Given the description of an element on the screen output the (x, y) to click on. 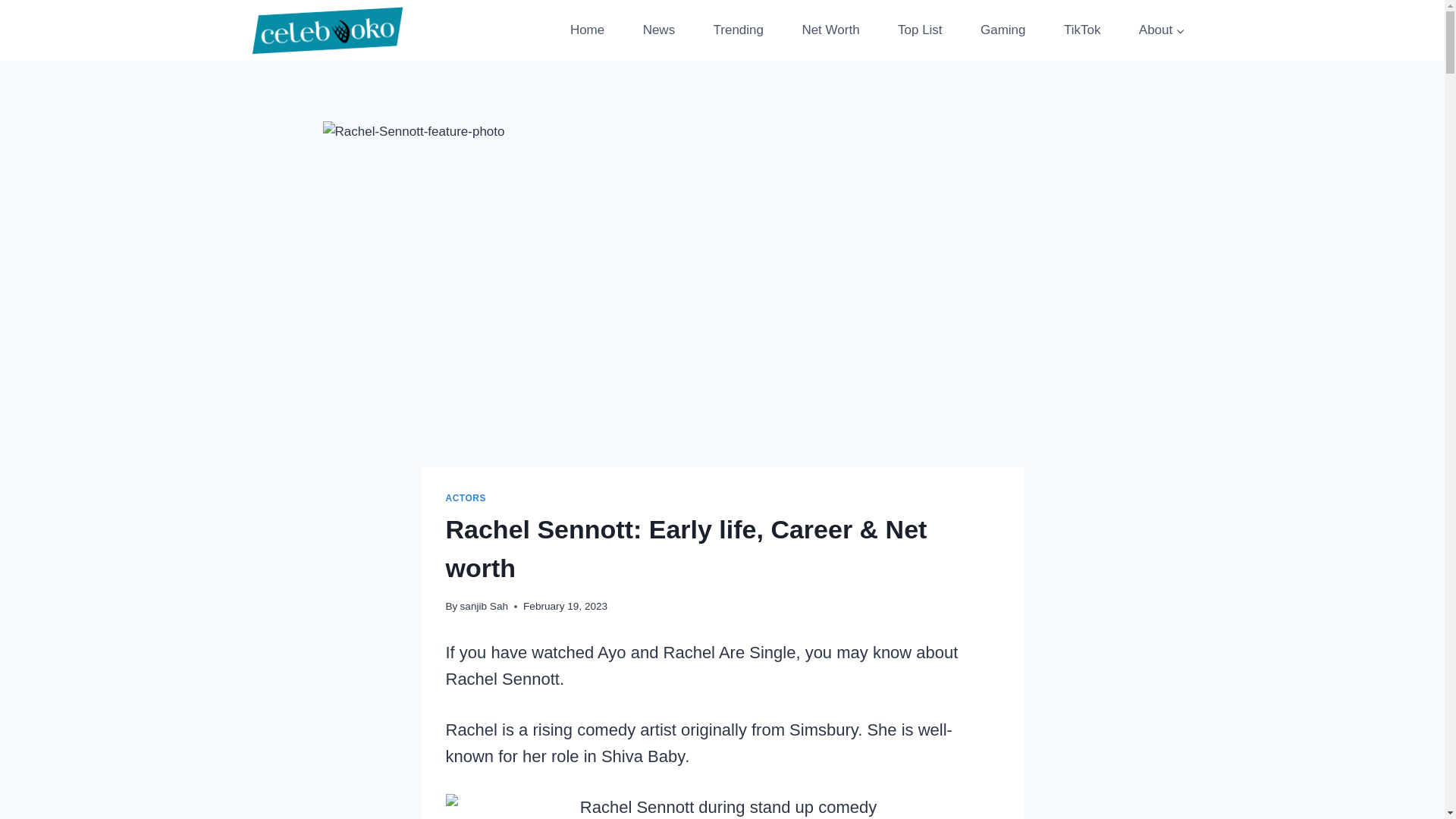
Net Worth (830, 30)
ACTORS (465, 498)
TikTok (1082, 30)
Gaming (1002, 30)
Home (587, 30)
Top List (919, 30)
Trending (737, 30)
About (1162, 30)
sanjib Sah (484, 605)
News (658, 30)
